Given the description of an element on the screen output the (x, y) to click on. 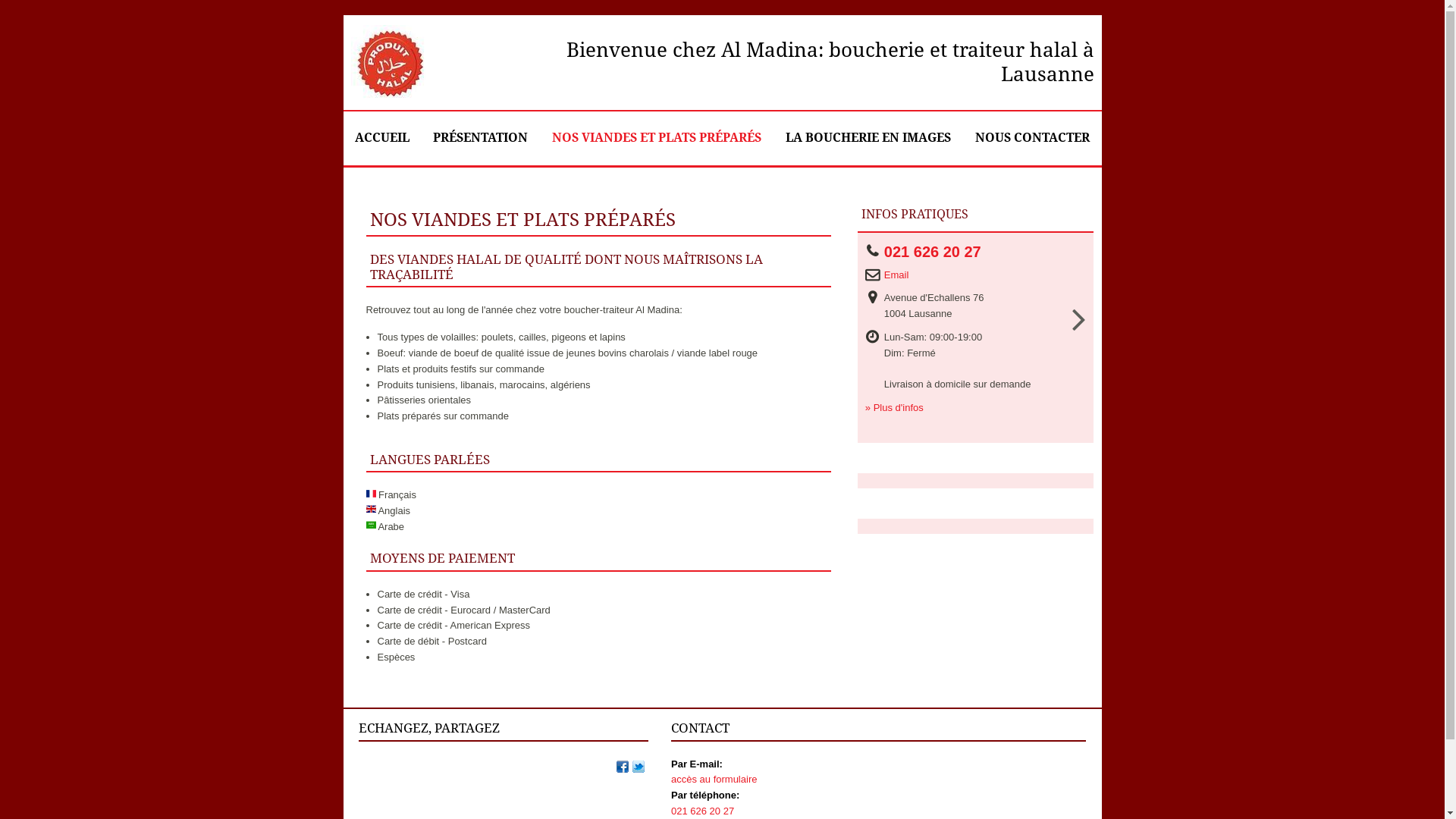
Email Element type: text (900, 275)
NOUS CONTACTER Element type: text (1032, 137)
021 626 20 27 Element type: text (936, 252)
021 626 20 27 Element type: text (702, 810)
ACCUEIL Element type: text (381, 137)
LA BOUCHERIE EN IMAGES Element type: text (868, 137)
